Given the description of an element on the screen output the (x, y) to click on. 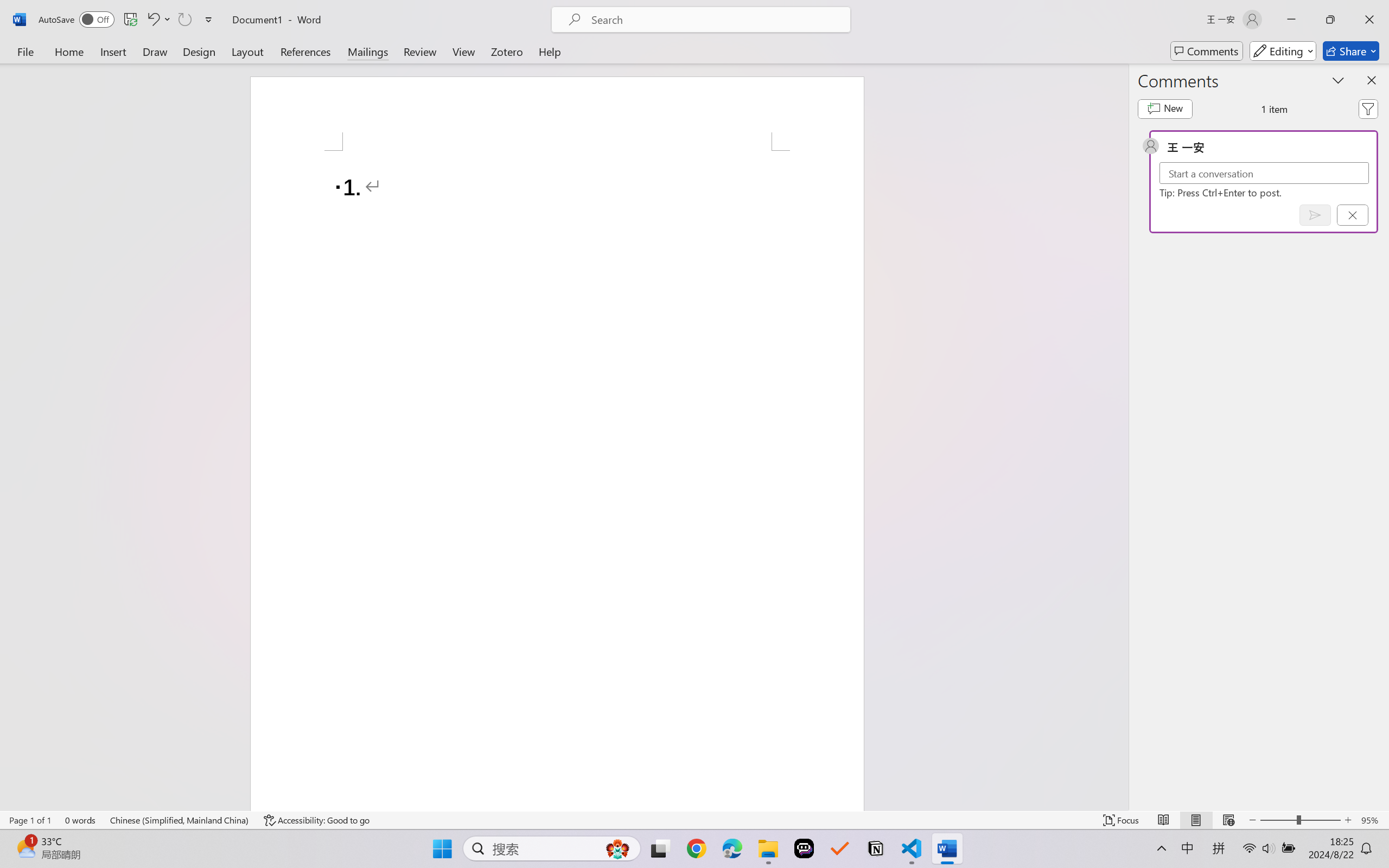
Cancel (1352, 214)
Filter (1367, 108)
